Given the description of an element on the screen output the (x, y) to click on. 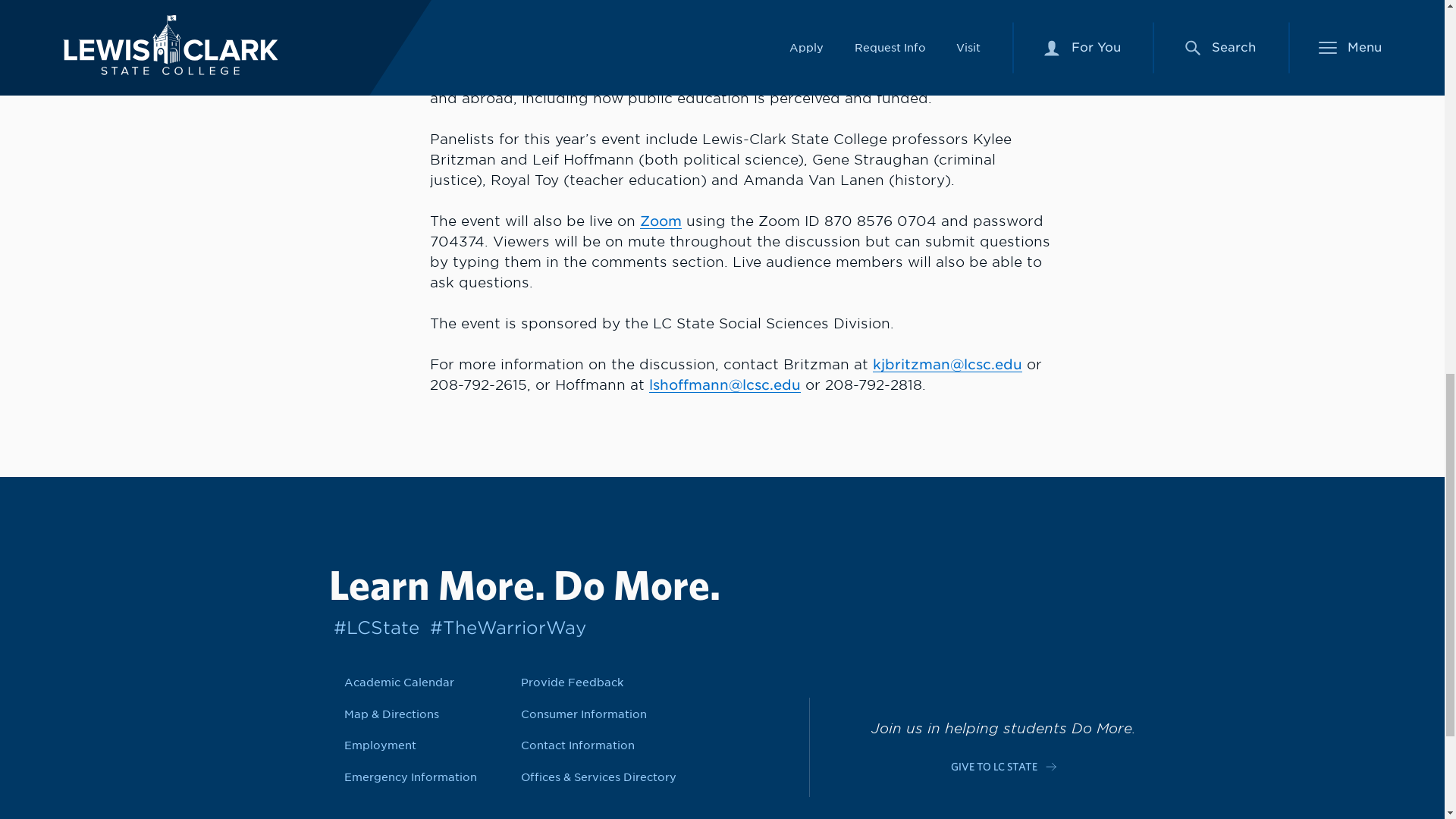
ARROW-RIGHT--LINE (1051, 766)
